Given the description of an element on the screen output the (x, y) to click on. 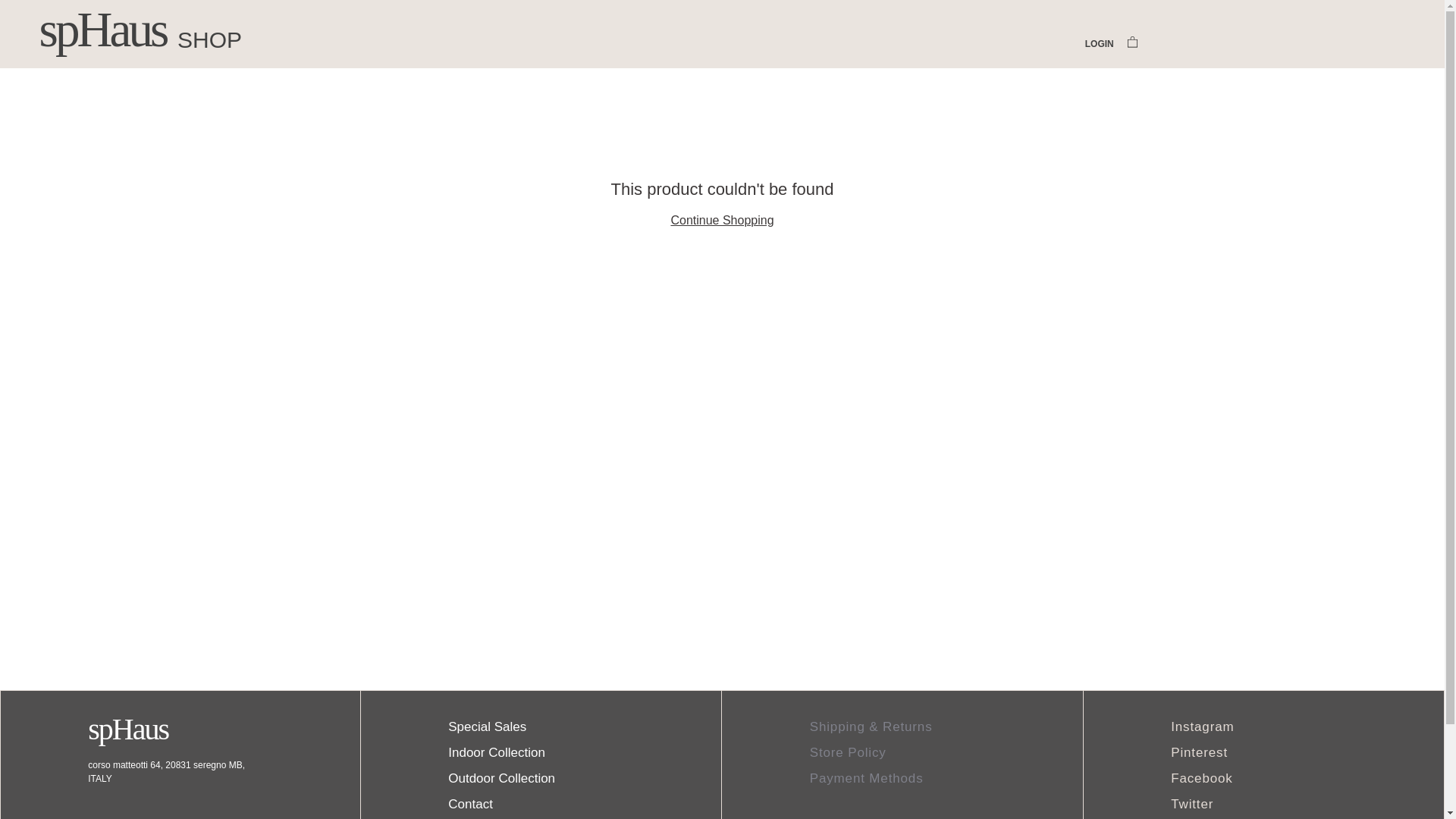
spHaus (127, 728)
Indoor Collection (496, 752)
Instagram (1201, 726)
Outdoor Collection (501, 778)
Facebook (1200, 778)
LOGIN (1099, 44)
Pinterest (1198, 752)
Special Sales (486, 726)
Continue Shopping (721, 219)
Twitter (1191, 803)
